Given the description of an element on the screen output the (x, y) to click on. 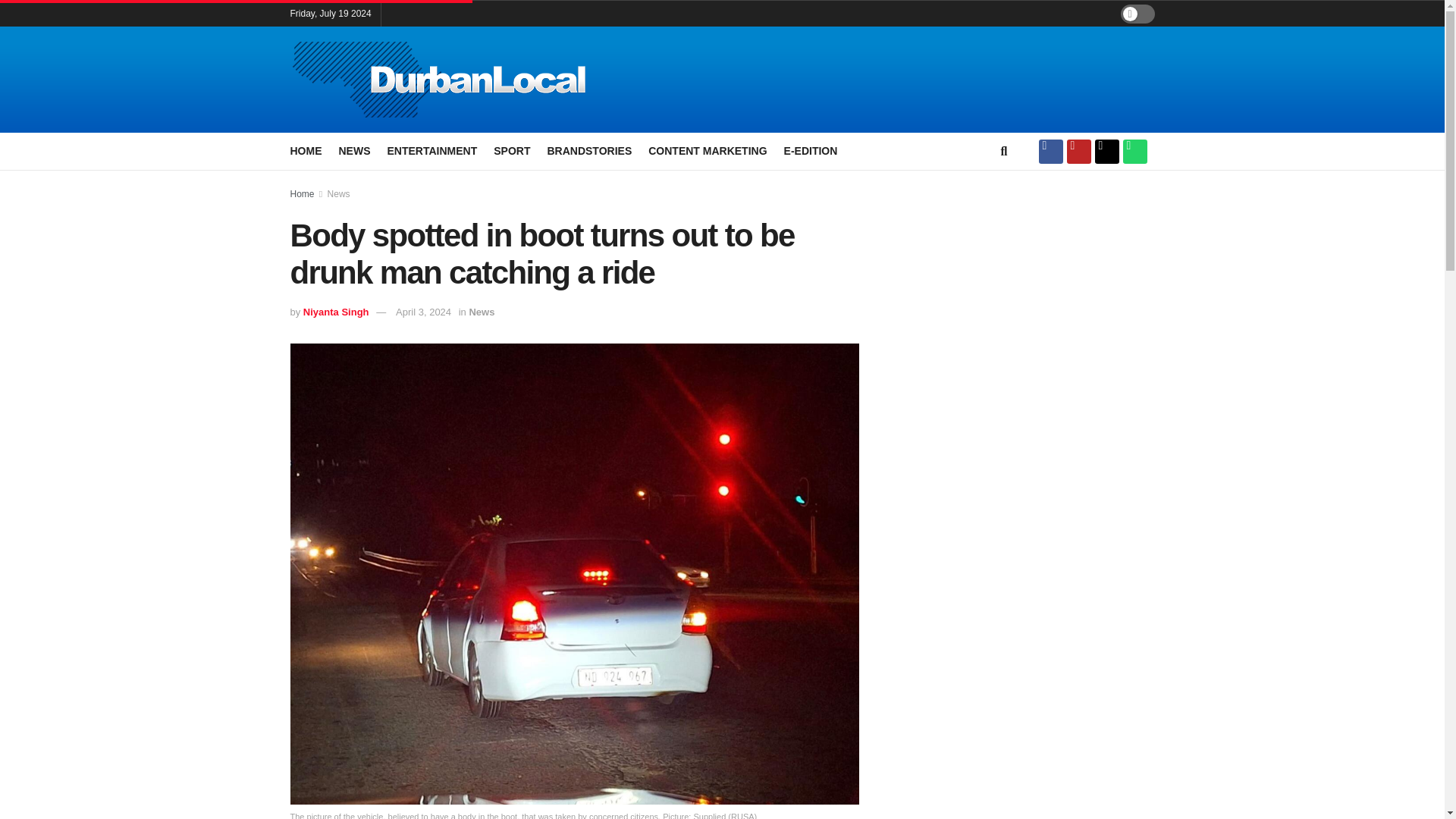
News (338, 194)
3rd party ad content (1023, 294)
3rd party ad content (888, 79)
HOME (305, 150)
Home (301, 194)
3rd party ad content (1023, 619)
BRANDSTORIES (589, 150)
SPORT (511, 150)
Niyanta Singh (335, 311)
News (481, 311)
NEWS (353, 150)
April 3, 2024 (423, 311)
E-EDITION (811, 150)
CONTENT MARKETING (707, 150)
ENTERTAINMENT (432, 150)
